Given the description of an element on the screen output the (x, y) to click on. 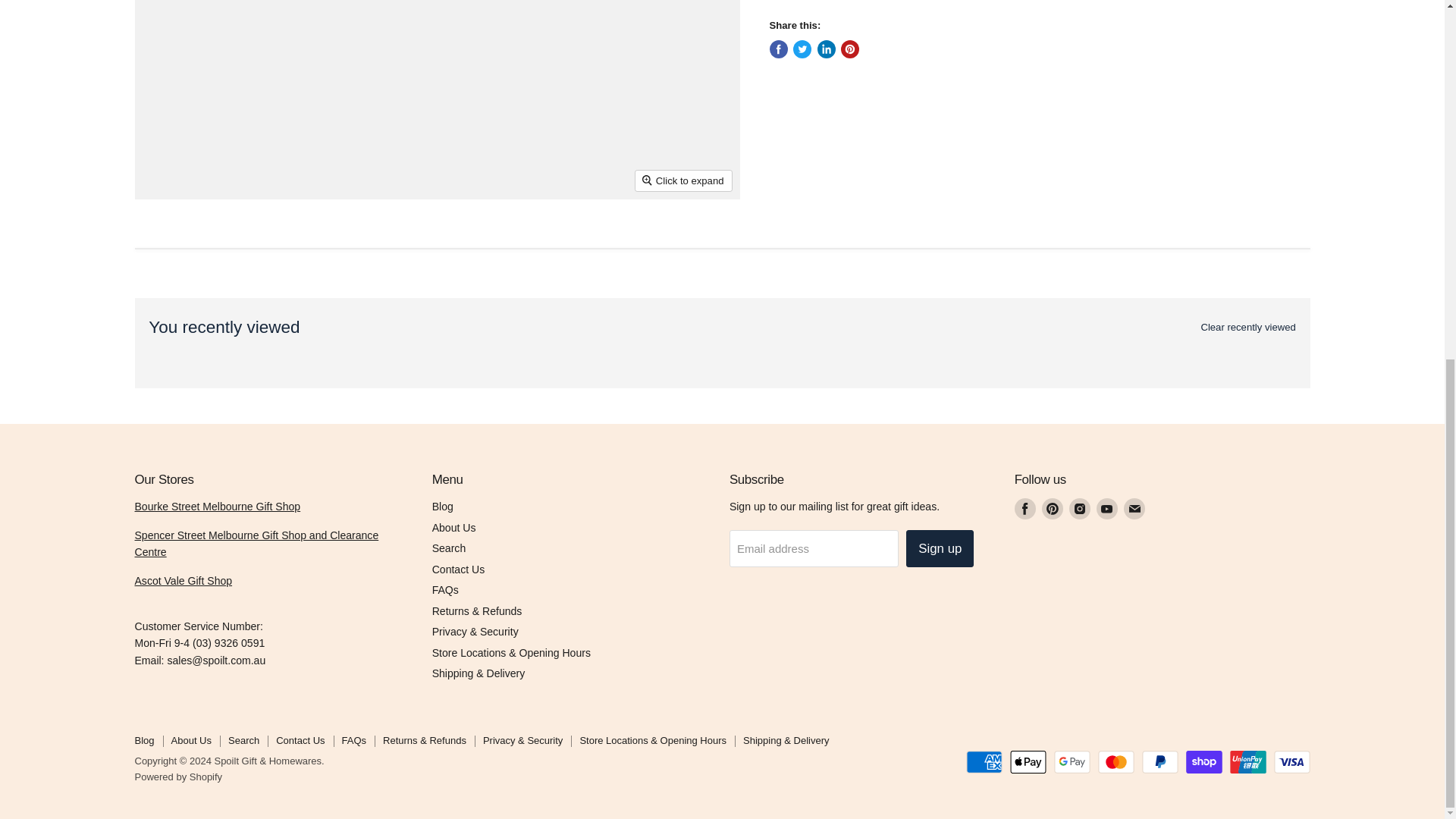
Gift Shop Spencer St DFO Melbourne CBD (256, 543)
Youtube (1107, 508)
Facebook (1024, 508)
Pinterest (1052, 508)
American Express (984, 762)
Email (1134, 508)
Apple Pay (1028, 762)
Instagram (1079, 508)
Gift Shop Ascot Vale (183, 580)
